Given the description of an element on the screen output the (x, y) to click on. 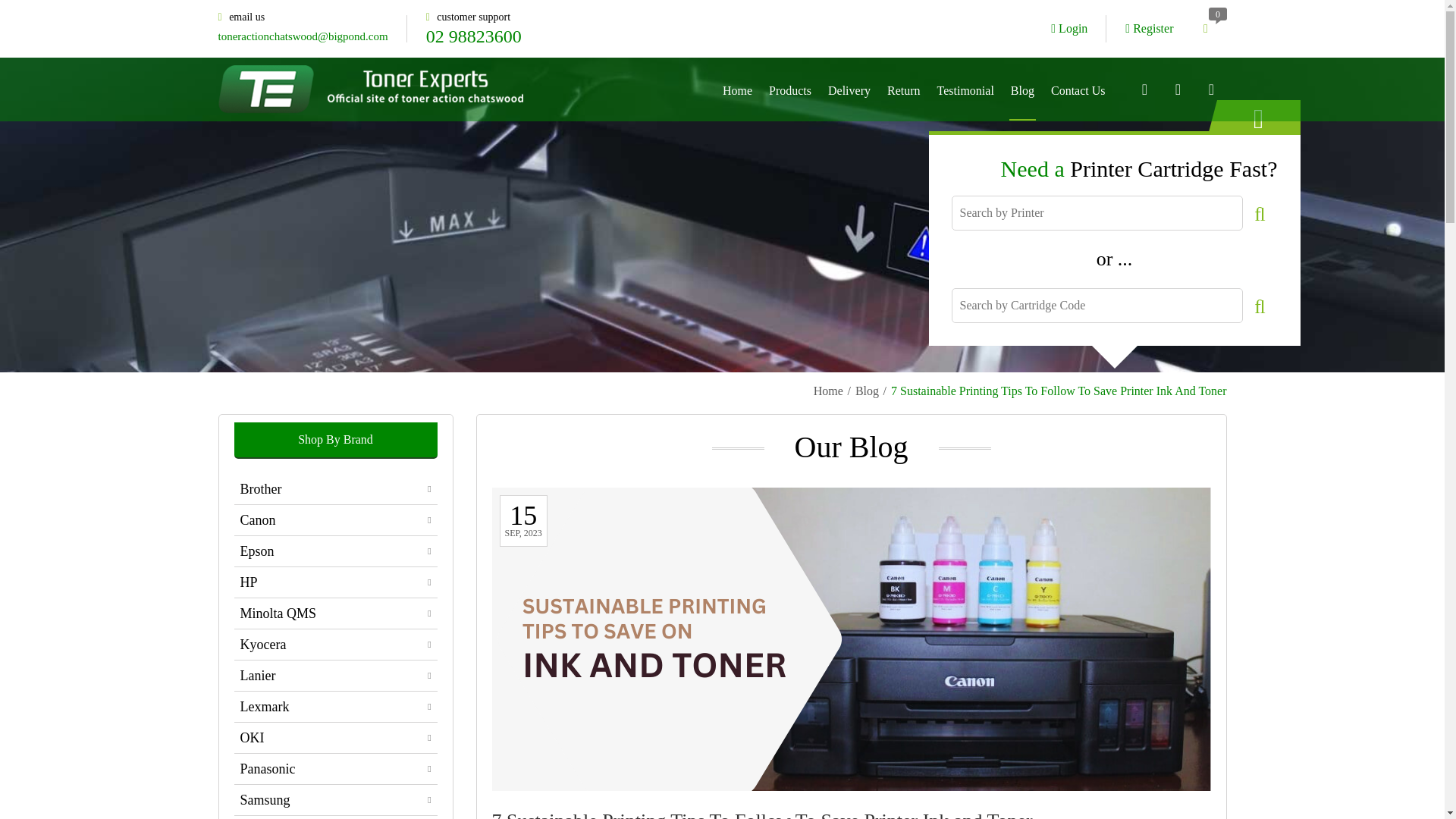
Contact Us (1077, 89)
Register (1149, 28)
02 98823600 (473, 35)
Epson (334, 551)
Brother (334, 489)
Canon (334, 520)
Contact Us (1077, 89)
Home (828, 391)
Testimonial (965, 89)
Blog (867, 391)
Login (1069, 28)
0 (1205, 28)
Testimonial (965, 89)
